Given the description of an element on the screen output the (x, y) to click on. 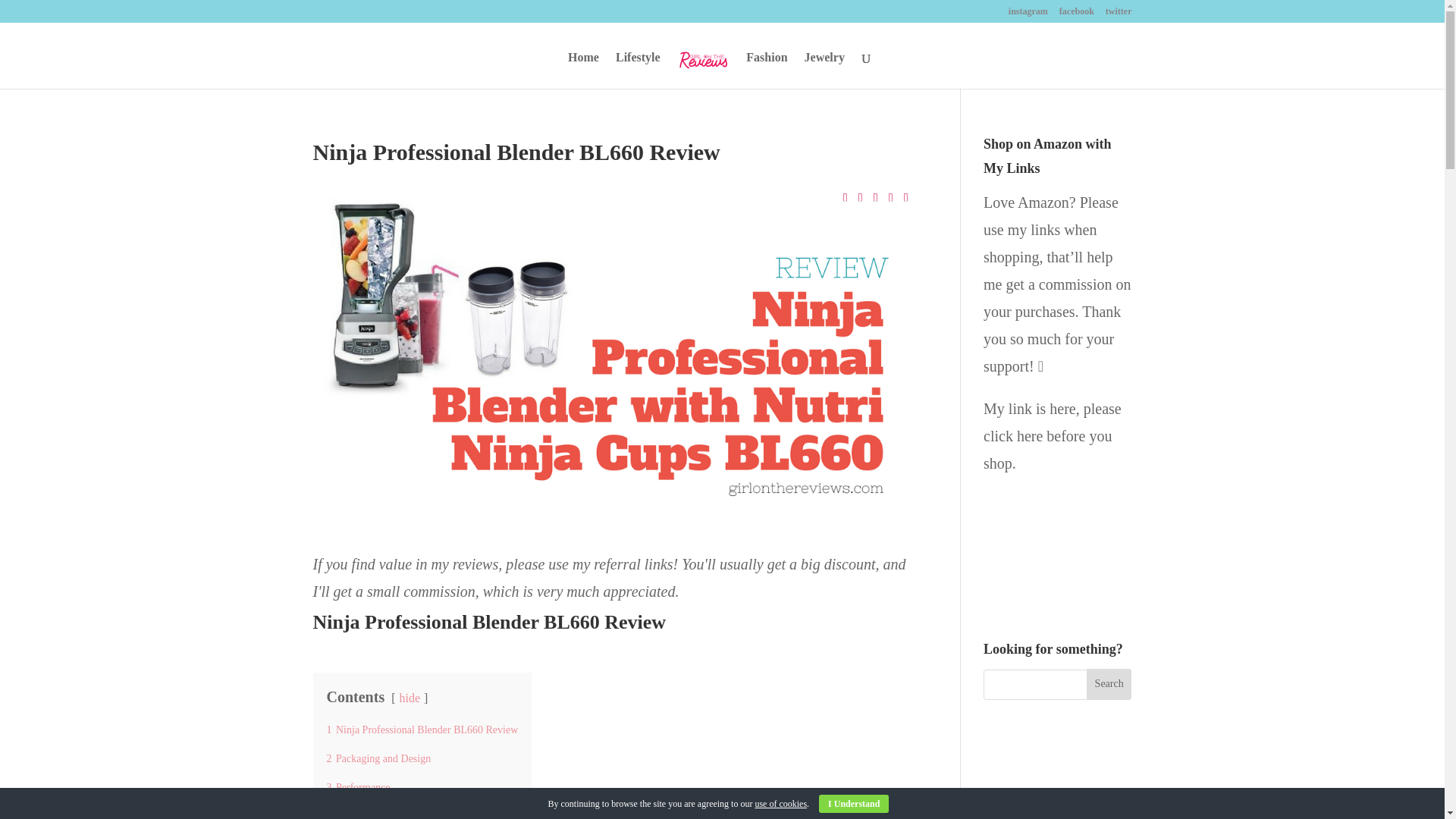
twitter (1118, 14)
hide (409, 697)
Fashion (766, 70)
I Understand (853, 803)
instagram (1028, 14)
3 Performance (358, 787)
use of cookies (780, 803)
My link is here, please click here before you shop. (1052, 435)
4 Verdict (346, 814)
Jewelry (824, 70)
1 Ninja Professional Blender BL660 Review (422, 729)
facebook (1076, 14)
Search (1109, 684)
Lifestyle (638, 70)
2 Packaging and Design (378, 758)
